Given the description of an element on the screen output the (x, y) to click on. 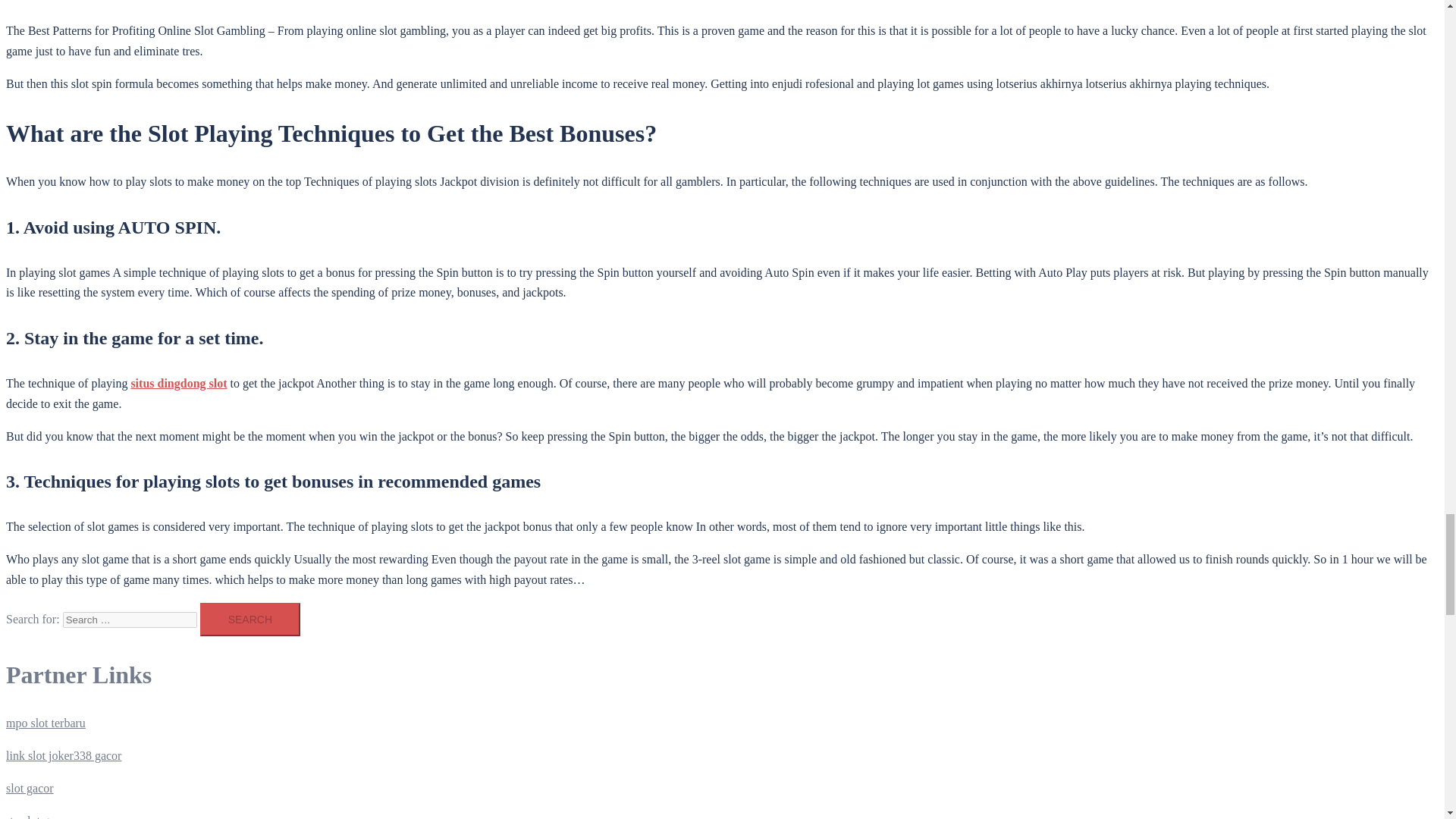
link slot joker338 gacor (62, 755)
mpo slot terbaru (45, 722)
Search (249, 619)
Search (249, 619)
Search (249, 619)
situs dingdong slot (179, 382)
slot gacor (29, 788)
rtp slot gacor (37, 816)
